Given the description of an element on the screen output the (x, y) to click on. 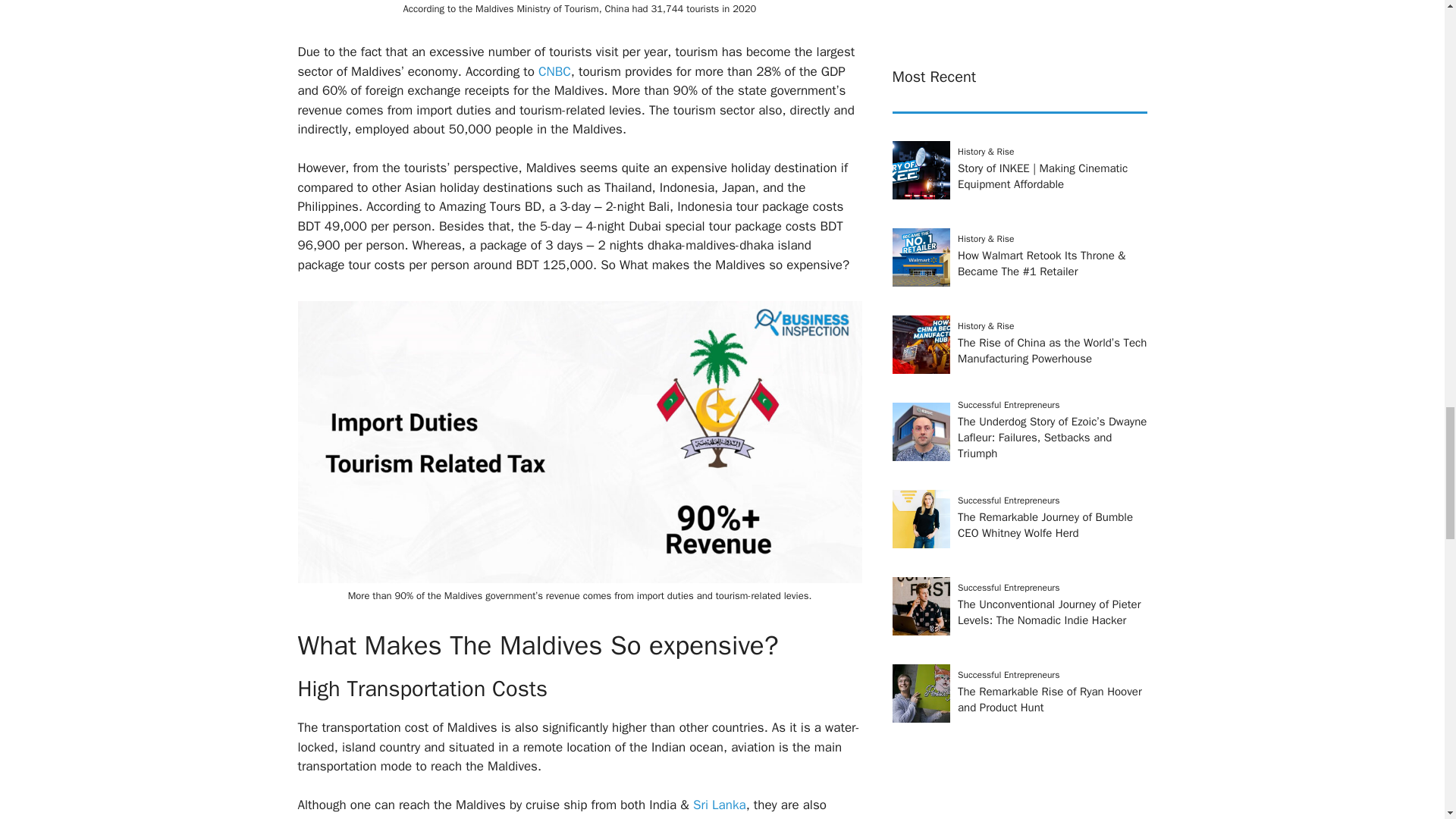
CNBC (554, 71)
Sri Lanka (716, 804)
